Given the description of an element on the screen output the (x, y) to click on. 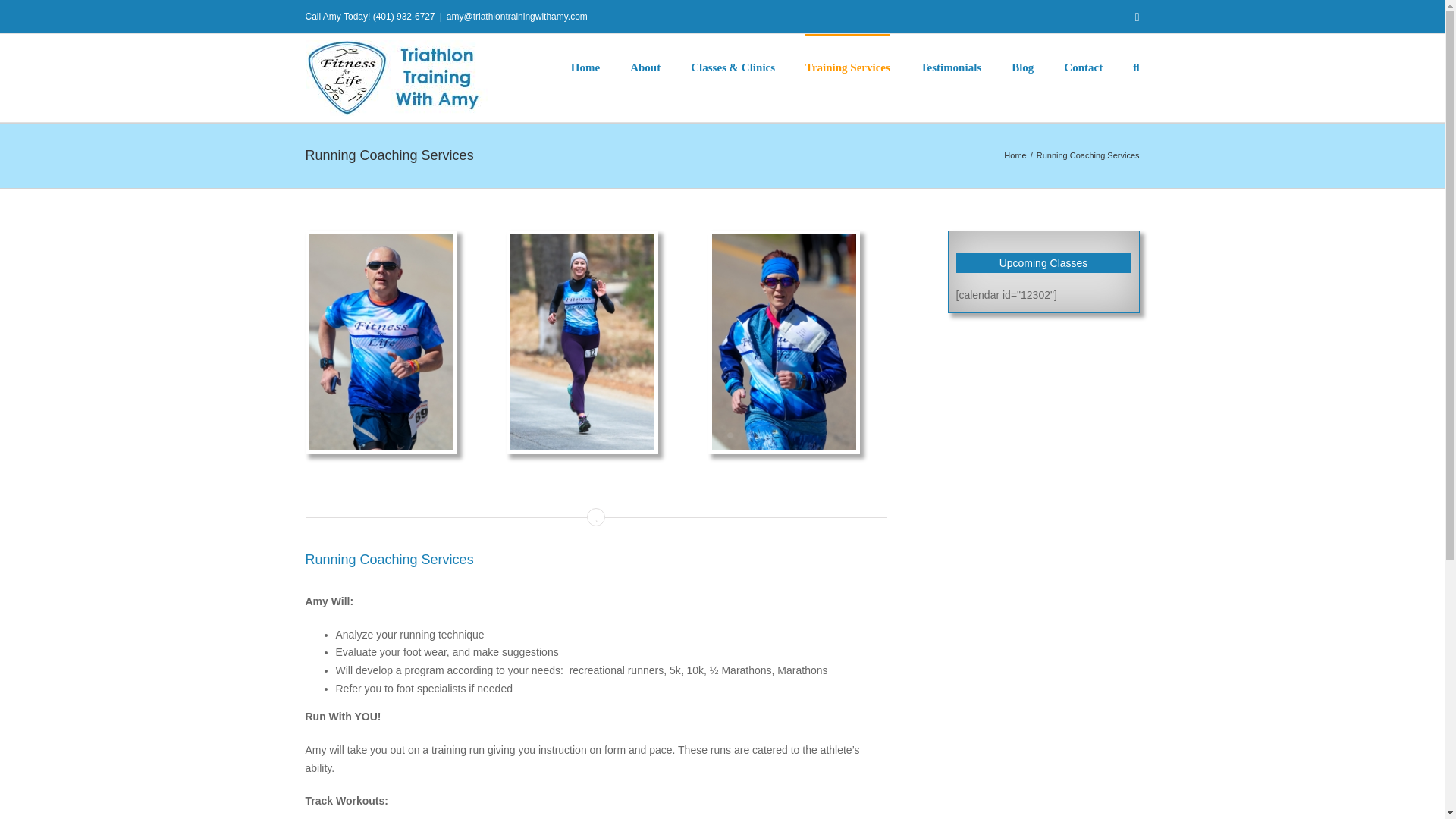
Training Services (847, 66)
Testimonials (950, 66)
Home (1015, 154)
